Given the description of an element on the screen output the (x, y) to click on. 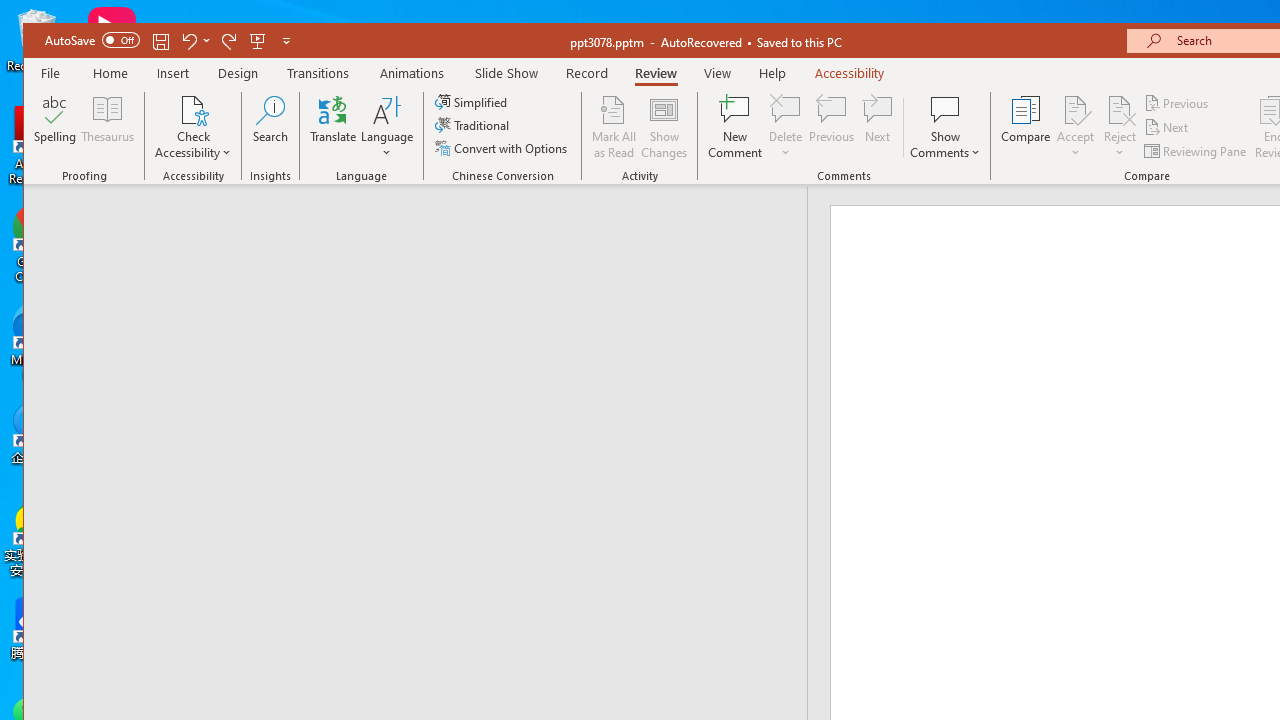
Reject Change (1119, 109)
Reject (1119, 127)
Thesaurus... (107, 127)
Language (387, 127)
Convert with Options... (502, 147)
Outline (424, 226)
